Given the description of an element on the screen output the (x, y) to click on. 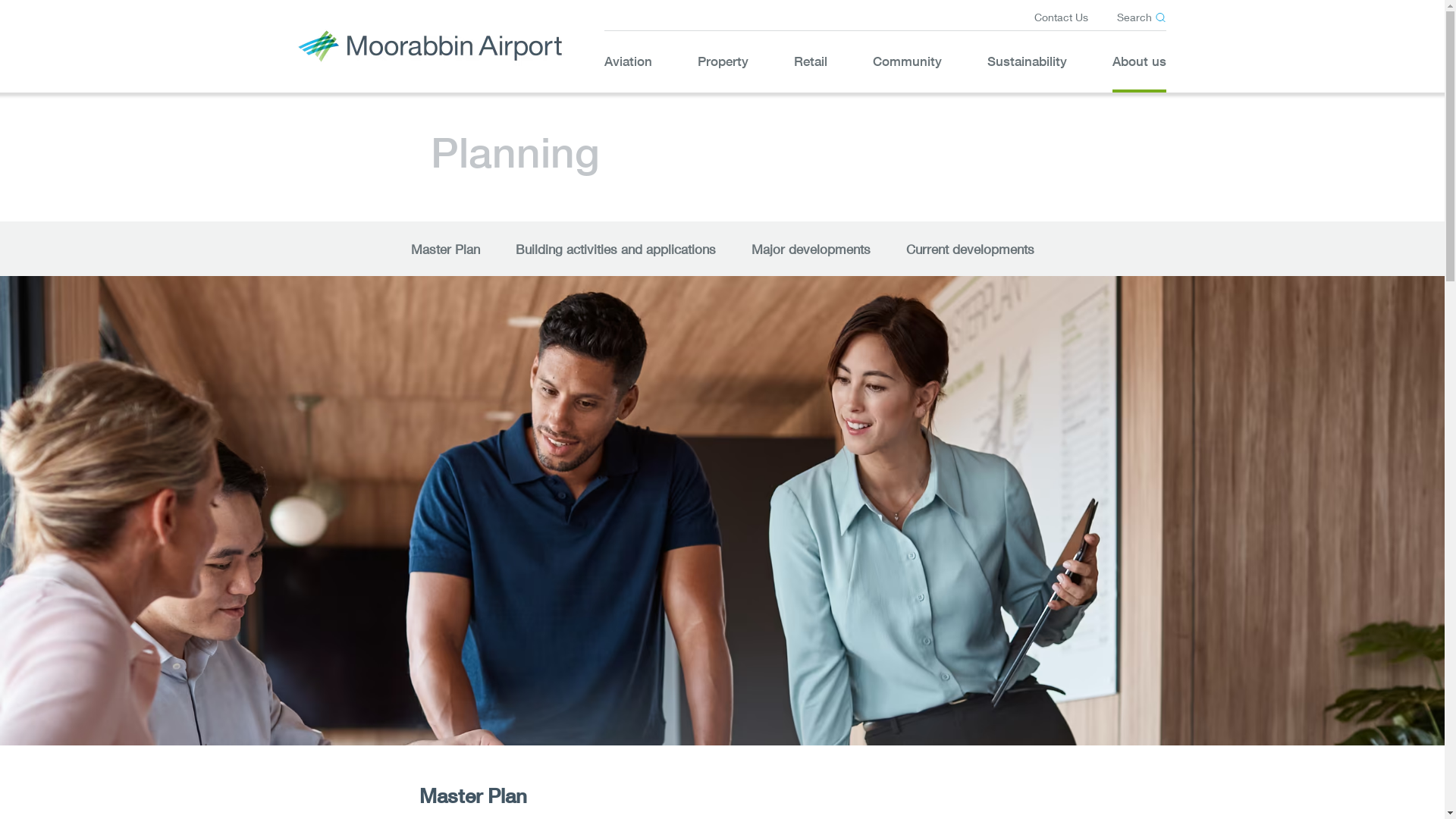
Search Element type: text (1140, 16)
Sustainability Element type: text (1026, 61)
About us Element type: text (1138, 61)
Community Element type: text (906, 61)
Current developments Element type: text (969, 247)
Aviation Element type: text (627, 61)
Contact Us Element type: text (1061, 16)
Property Element type: text (722, 61)
Retail Element type: text (809, 61)
Building activities and applications Element type: text (615, 247)
Master Plan Element type: text (445, 247)
Major developments Element type: text (809, 247)
